Given the description of an element on the screen output the (x, y) to click on. 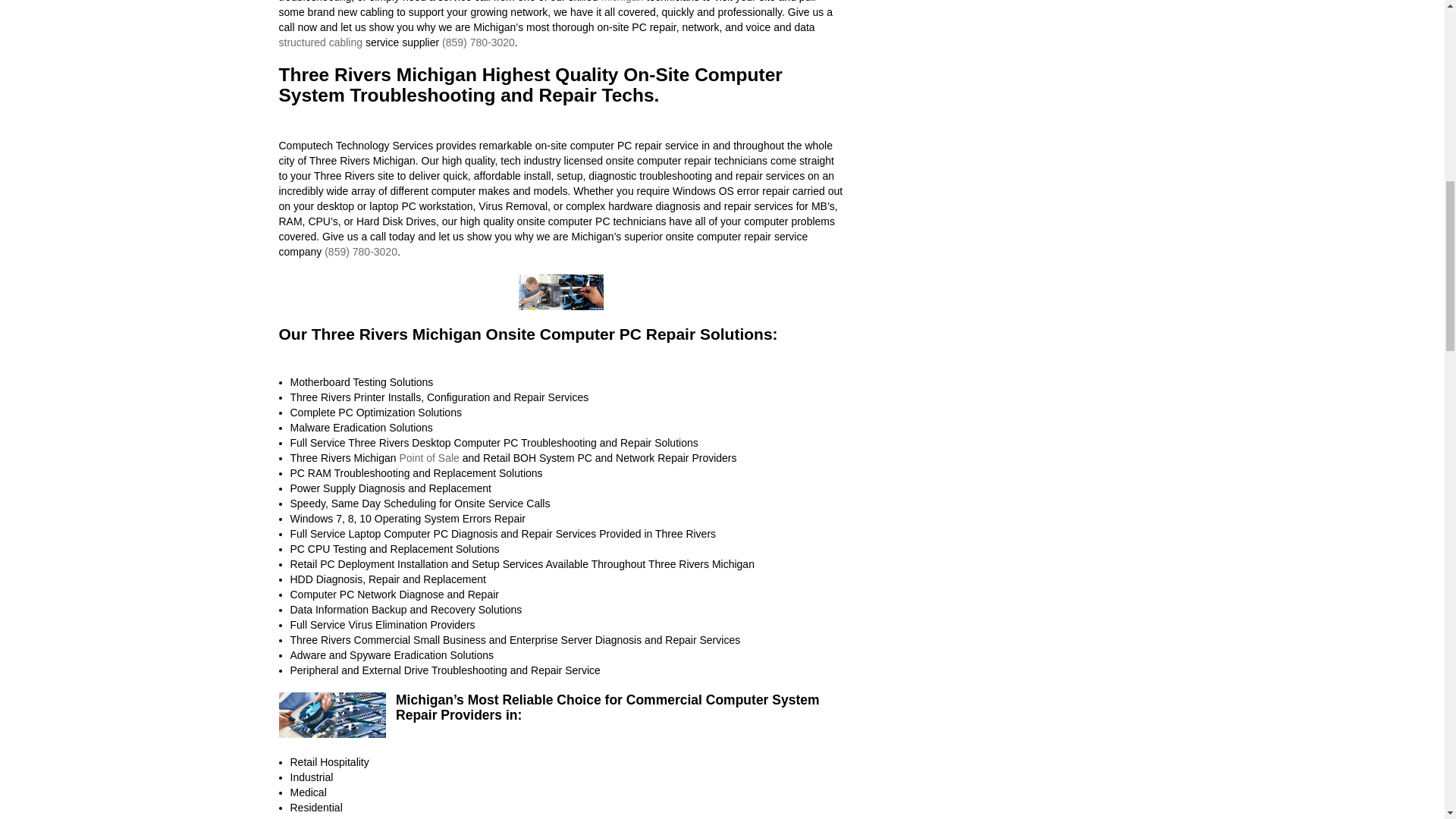
structured cabling (320, 42)
Point of Sale (428, 458)
Michigan (621, 1)
